Given the description of an element on the screen output the (x, y) to click on. 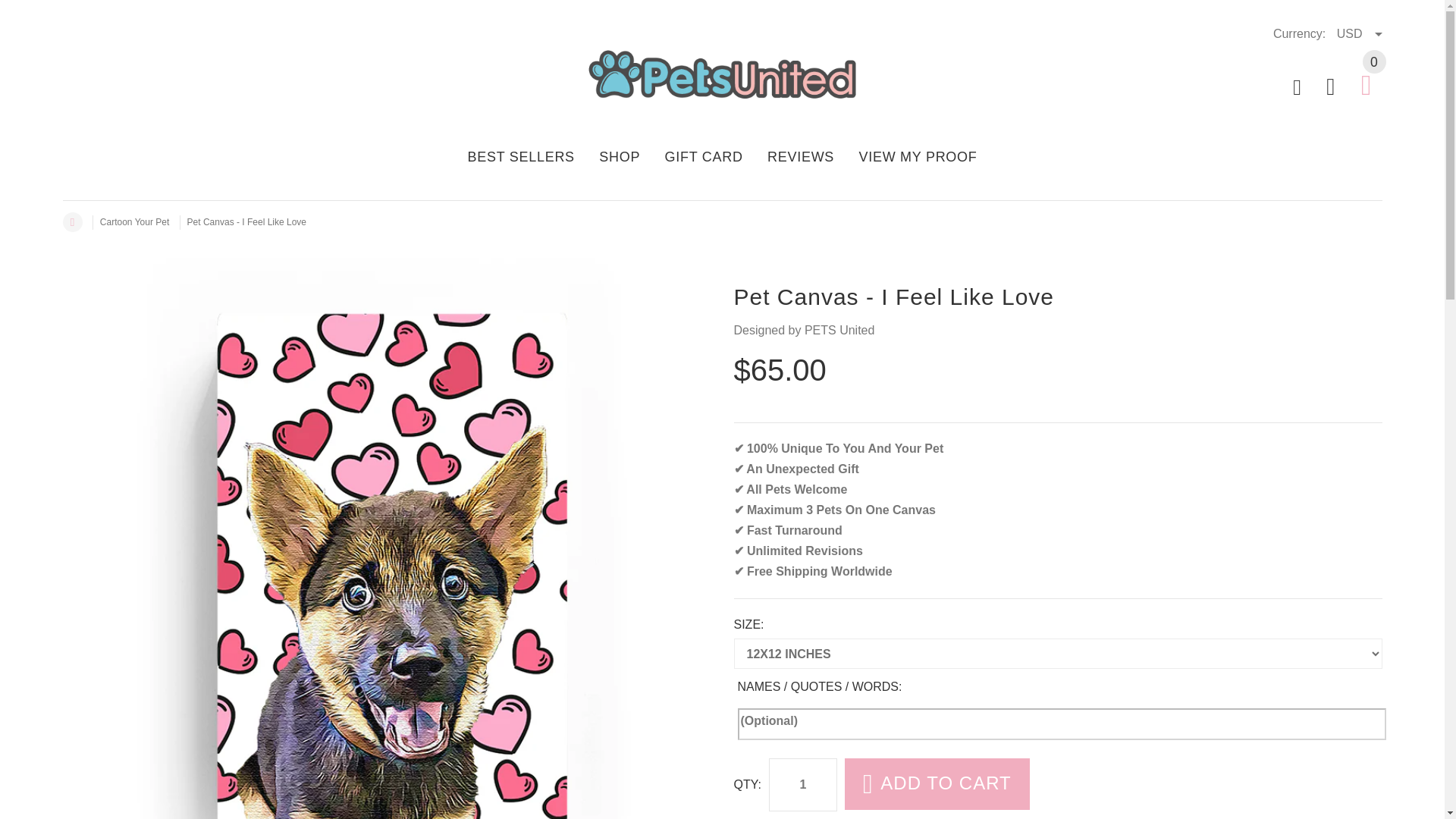
1 (802, 784)
BEST SELLERS (526, 155)
SHOP (619, 155)
USD (1358, 33)
